Given the description of an element on the screen output the (x, y) to click on. 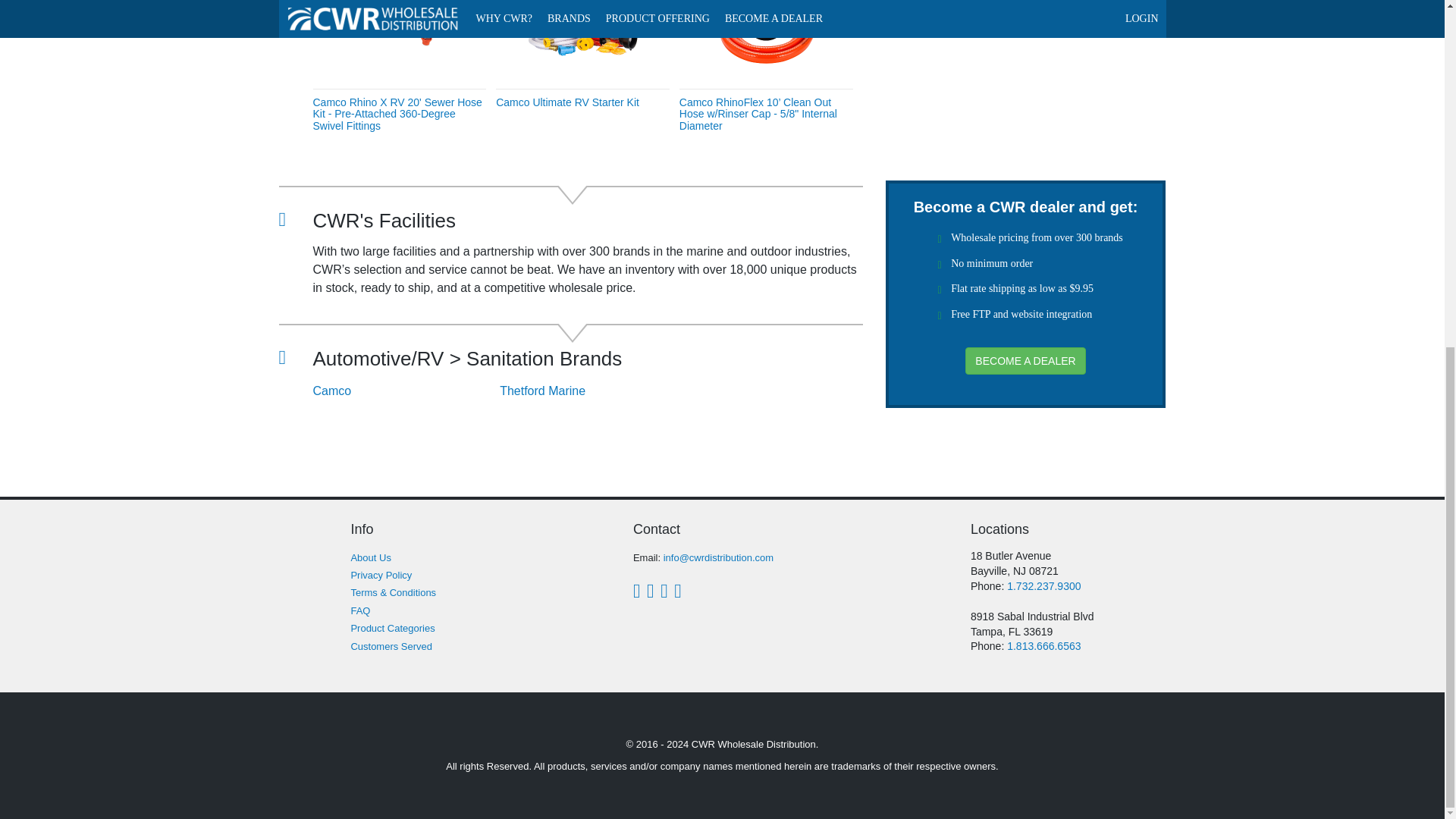
FAQ (359, 610)
About Us (370, 557)
Product Categories (391, 627)
Customers Served (391, 645)
Privacy Policy (381, 574)
Camco Ultimate RV Starter Kit (567, 102)
1.813.666.6563 (1043, 645)
1.732.237.9300 (1043, 585)
Camco (406, 391)
Thetford Marine (593, 391)
